Given the description of an element on the screen output the (x, y) to click on. 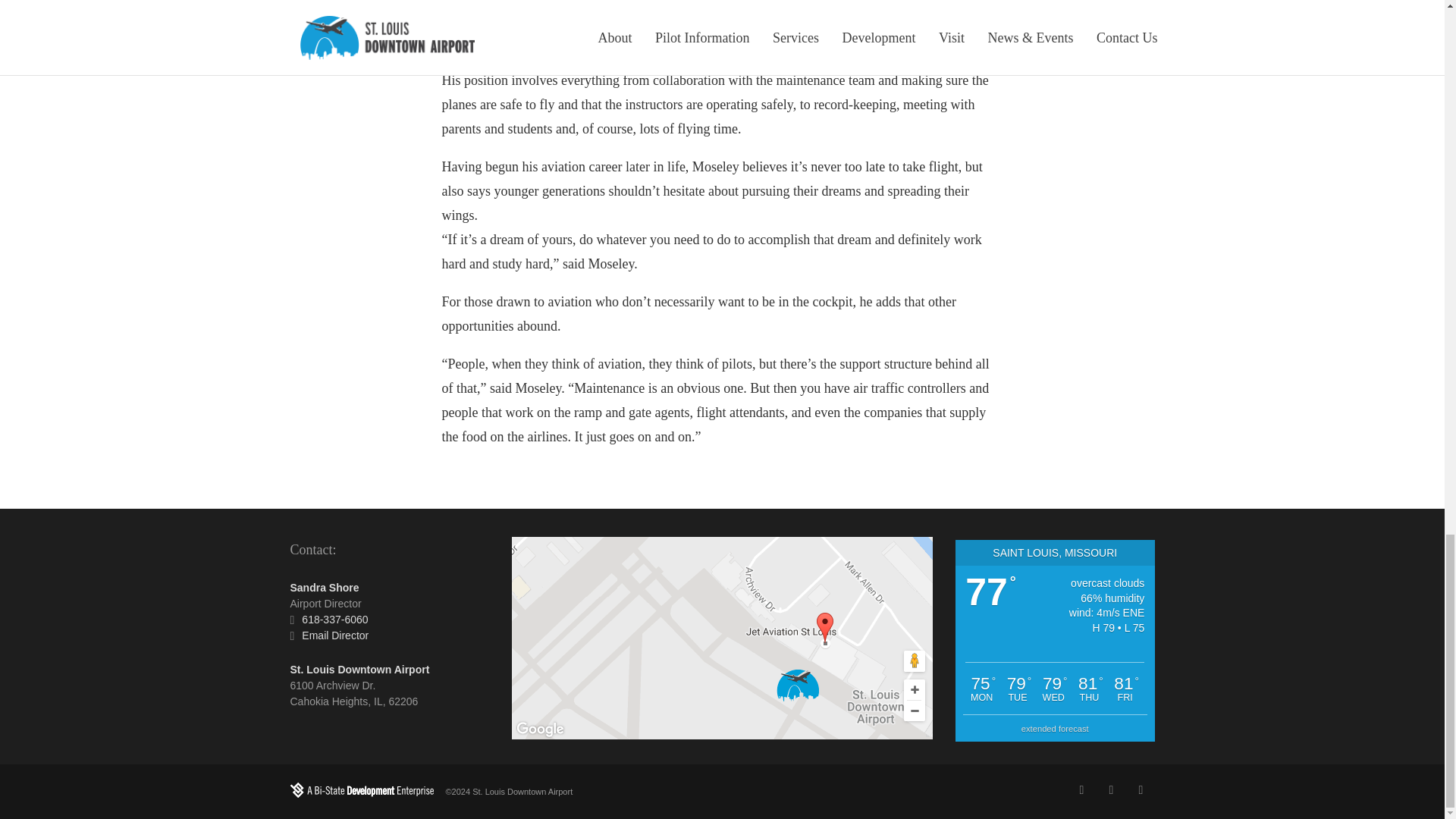
Email Director (334, 635)
extended forecast (1055, 728)
618-337-6060 (334, 619)
St. Louis Downtown Airport (359, 669)
Sandra Shore (323, 587)
